Given the description of an element on the screen output the (x, y) to click on. 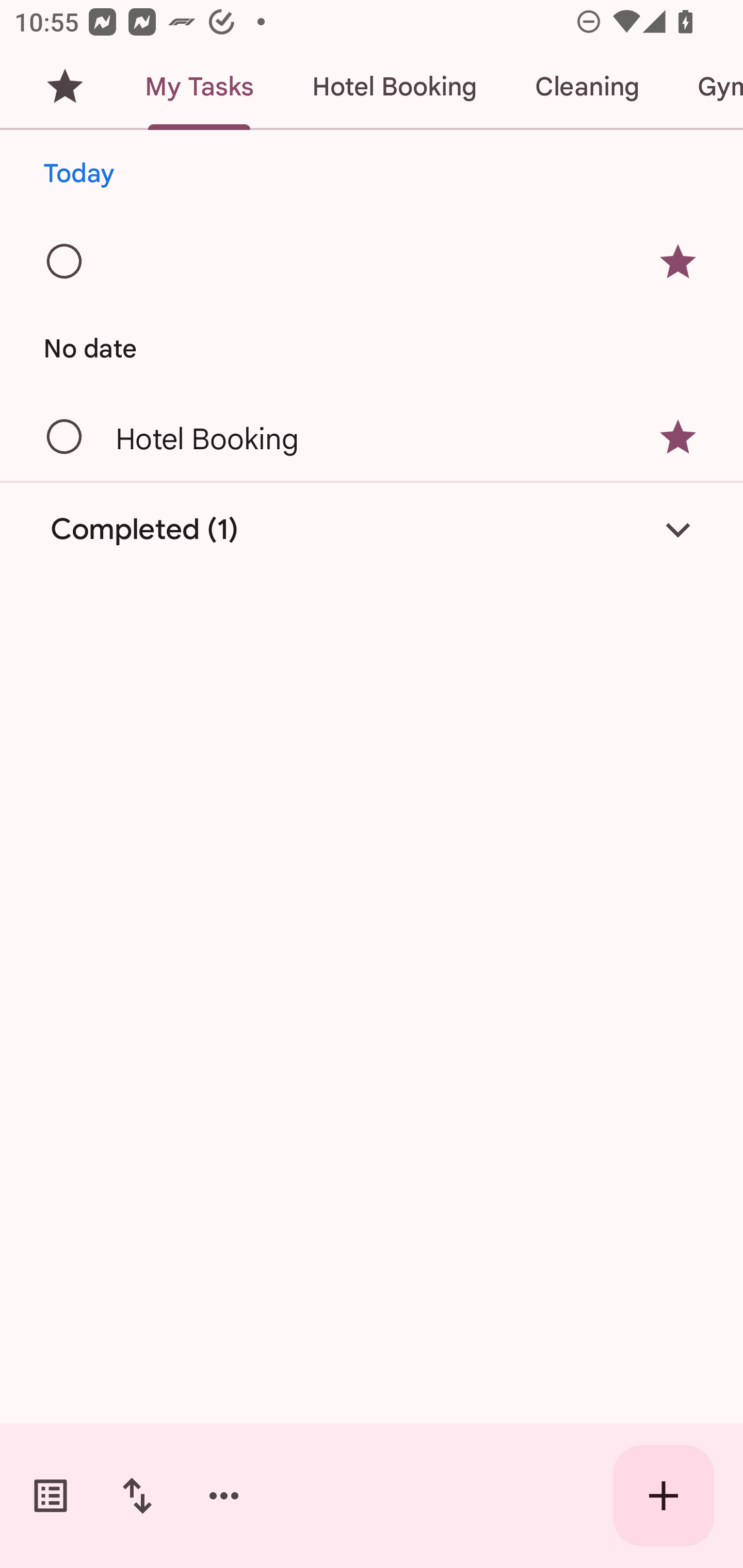
Starred (64, 86)
Hotel Booking (394, 86)
Cleaning (586, 86)
Remove star (677, 261)
Mark as complete (64, 261)
Remove star (677, 437)
Mark as complete (64, 437)
Completed (1) (371, 529)
Switch task lists (50, 1495)
Create new task (663, 1495)
Change sort order (136, 1495)
More options (223, 1495)
